Given the description of an element on the screen output the (x, y) to click on. 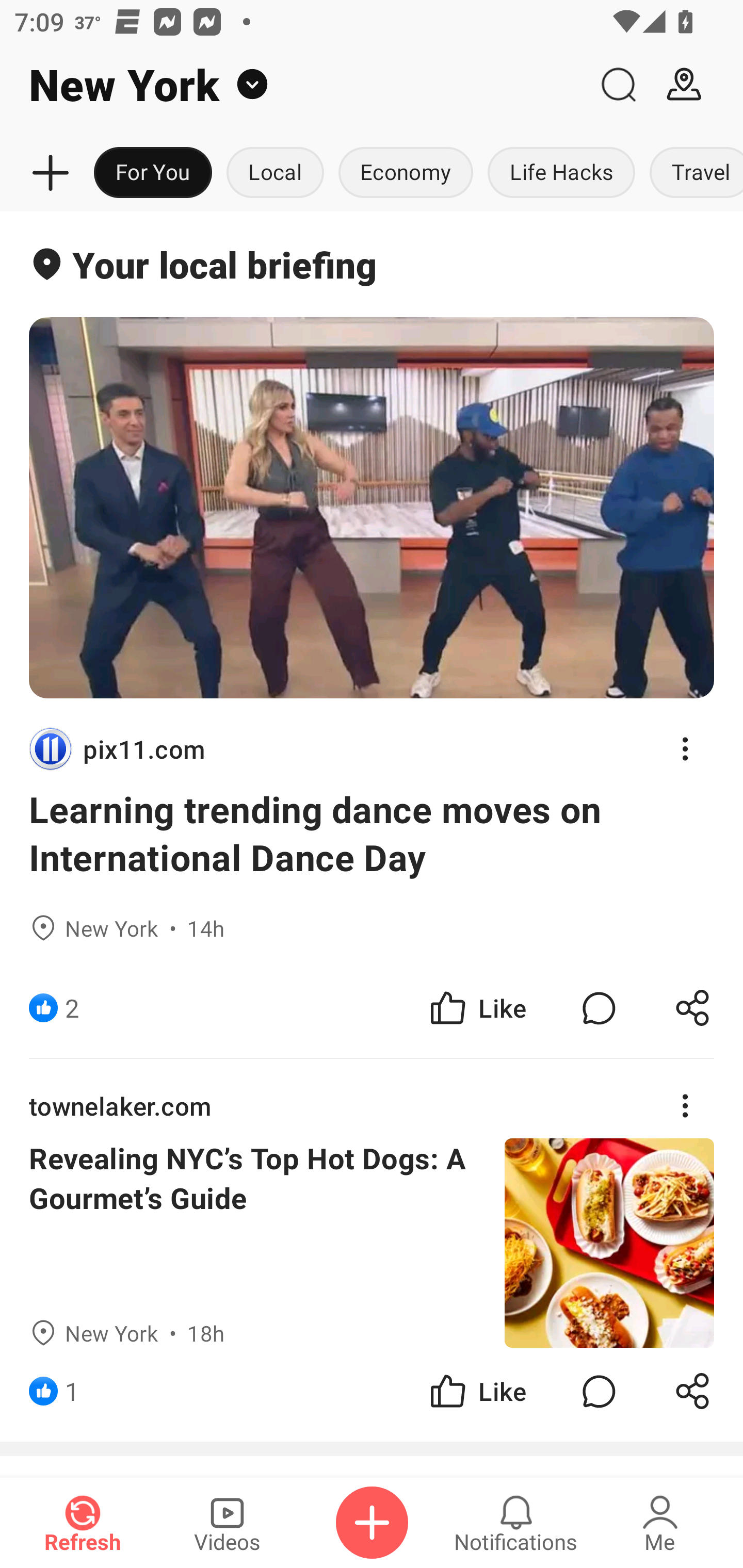
New York (292, 84)
For You (152, 172)
Local (275, 172)
Economy (405, 172)
Life Hacks (561, 172)
Travel (692, 172)
2 (72, 1007)
Like (476, 1007)
1 (72, 1391)
Like (476, 1391)
Videos (227, 1522)
Notifications (516, 1522)
Me (659, 1522)
